Given the description of an element on the screen output the (x, y) to click on. 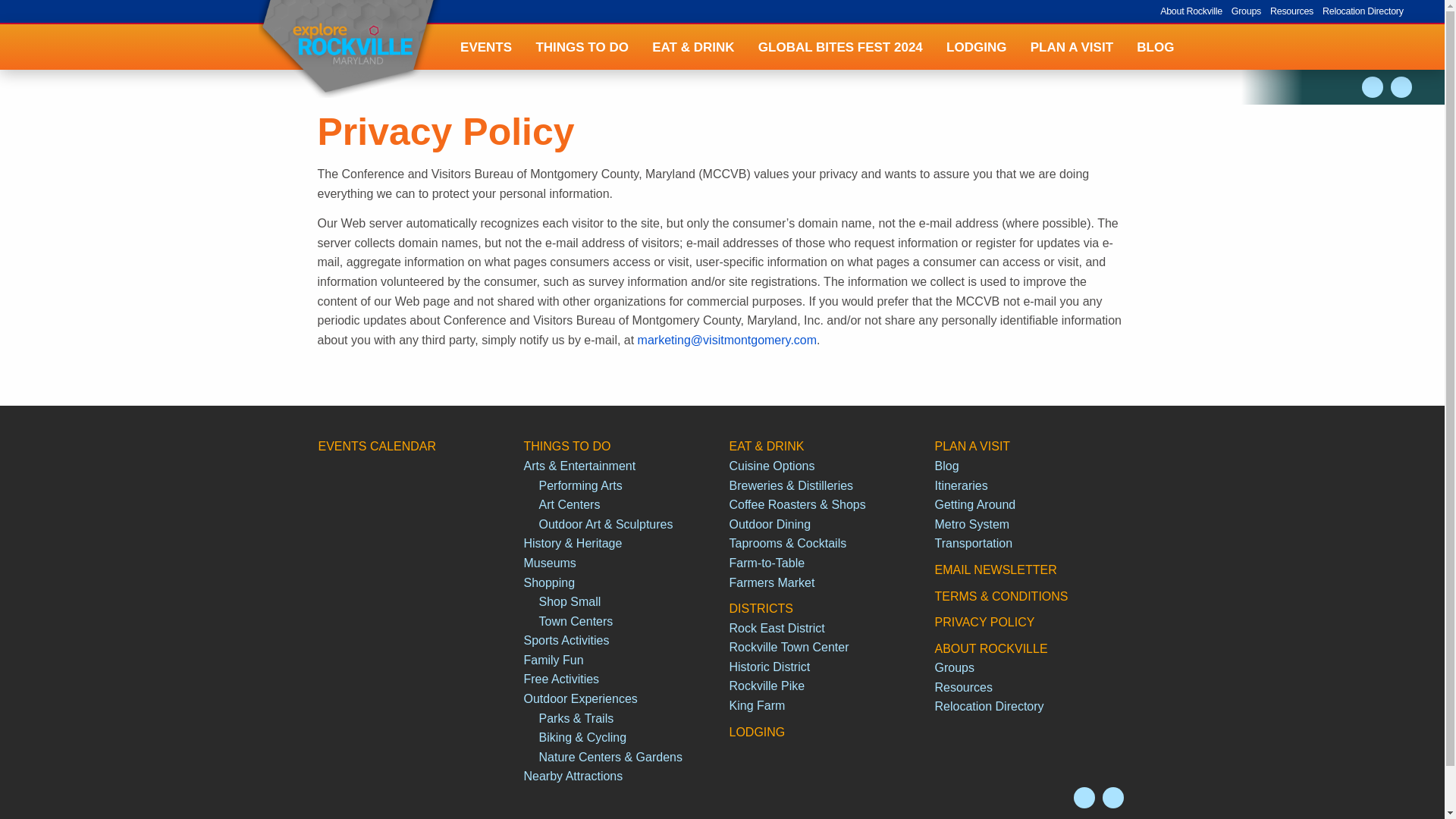
GLOBAL BITES FEST 2024 (839, 46)
PLAN A VISIT (1071, 46)
Facebook (1401, 86)
Instagram (1372, 86)
Resources (1167, 11)
About Rockville (1067, 11)
EVENTS (485, 46)
BLOG (1155, 46)
THINGS TO DO (582, 46)
Groups (1122, 11)
Relocation Directory (1238, 11)
LODGING (975, 46)
